Given the description of an element on the screen output the (x, y) to click on. 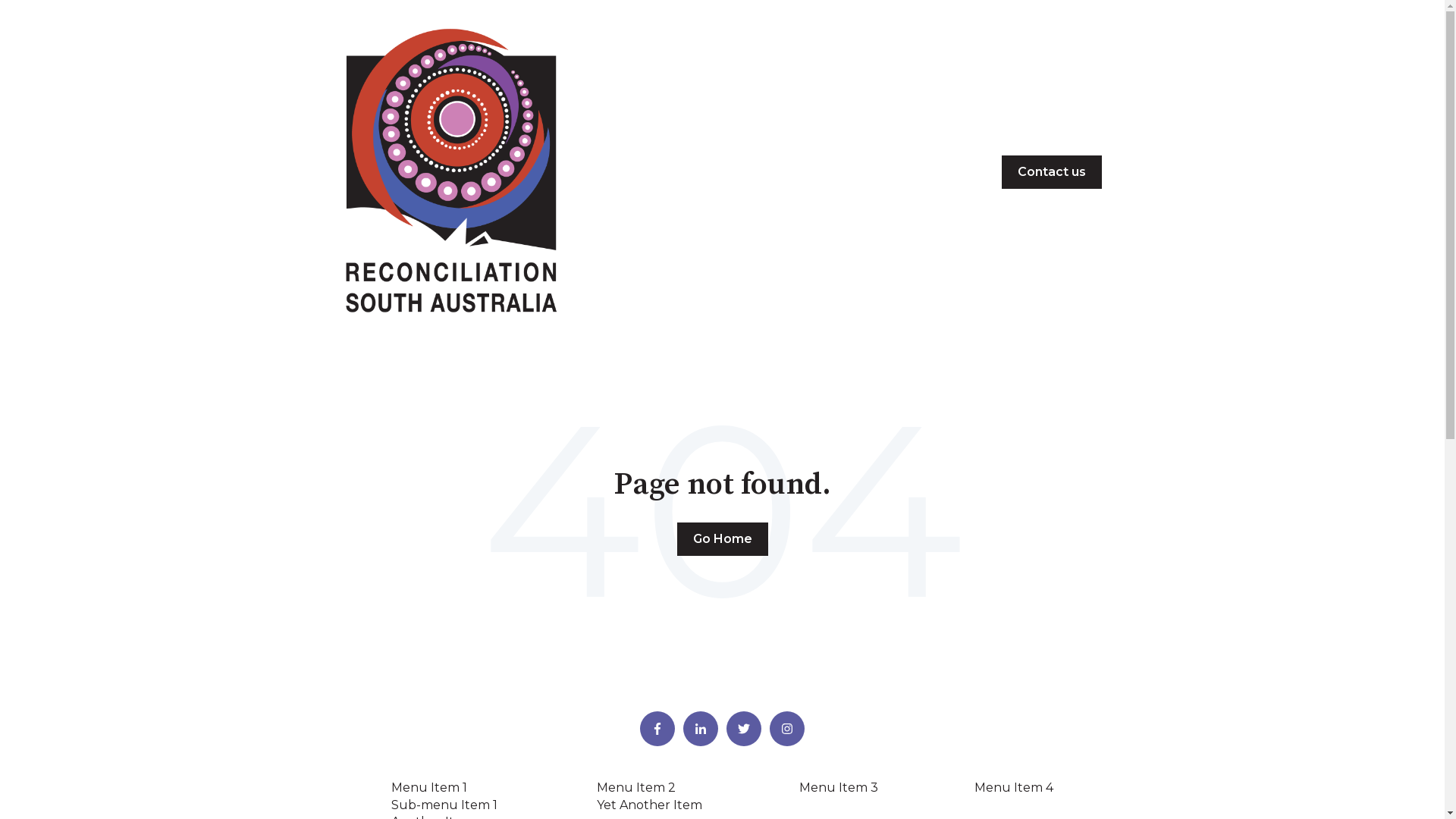
Go Home Element type: text (721, 538)
Contact us Element type: text (1051, 171)
Menu Item 1 Element type: text (429, 787)
Menu Item 4 Element type: text (1013, 787)
Menu Item 3 Element type: text (838, 787)
Yet Another Item Element type: text (649, 804)
Menu Item 2 Element type: text (635, 787)
Sub-menu Item 1 Element type: text (444, 804)
